Given the description of an element on the screen output the (x, y) to click on. 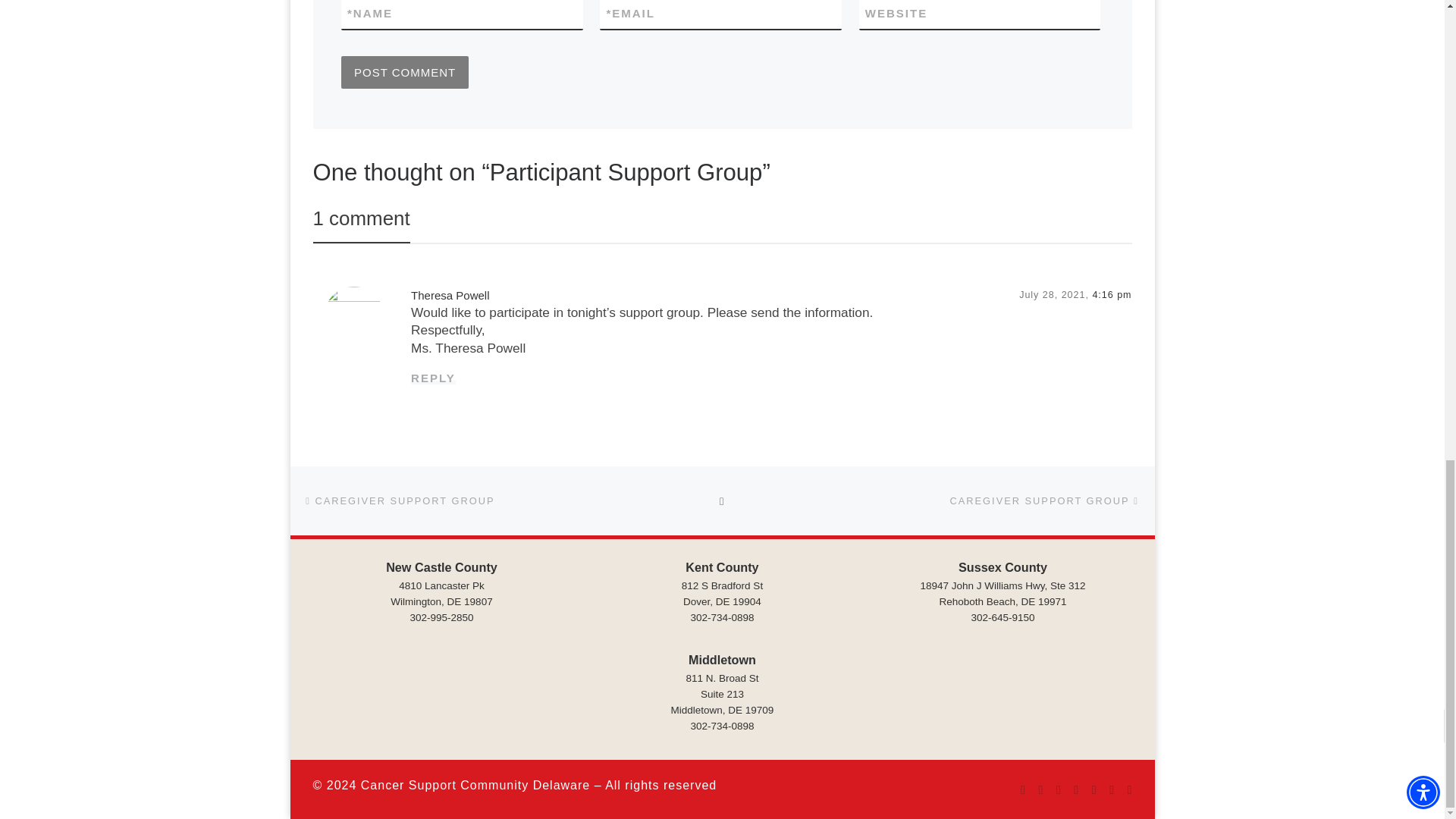
Post Comment (404, 71)
